Given the description of an element on the screen output the (x, y) to click on. 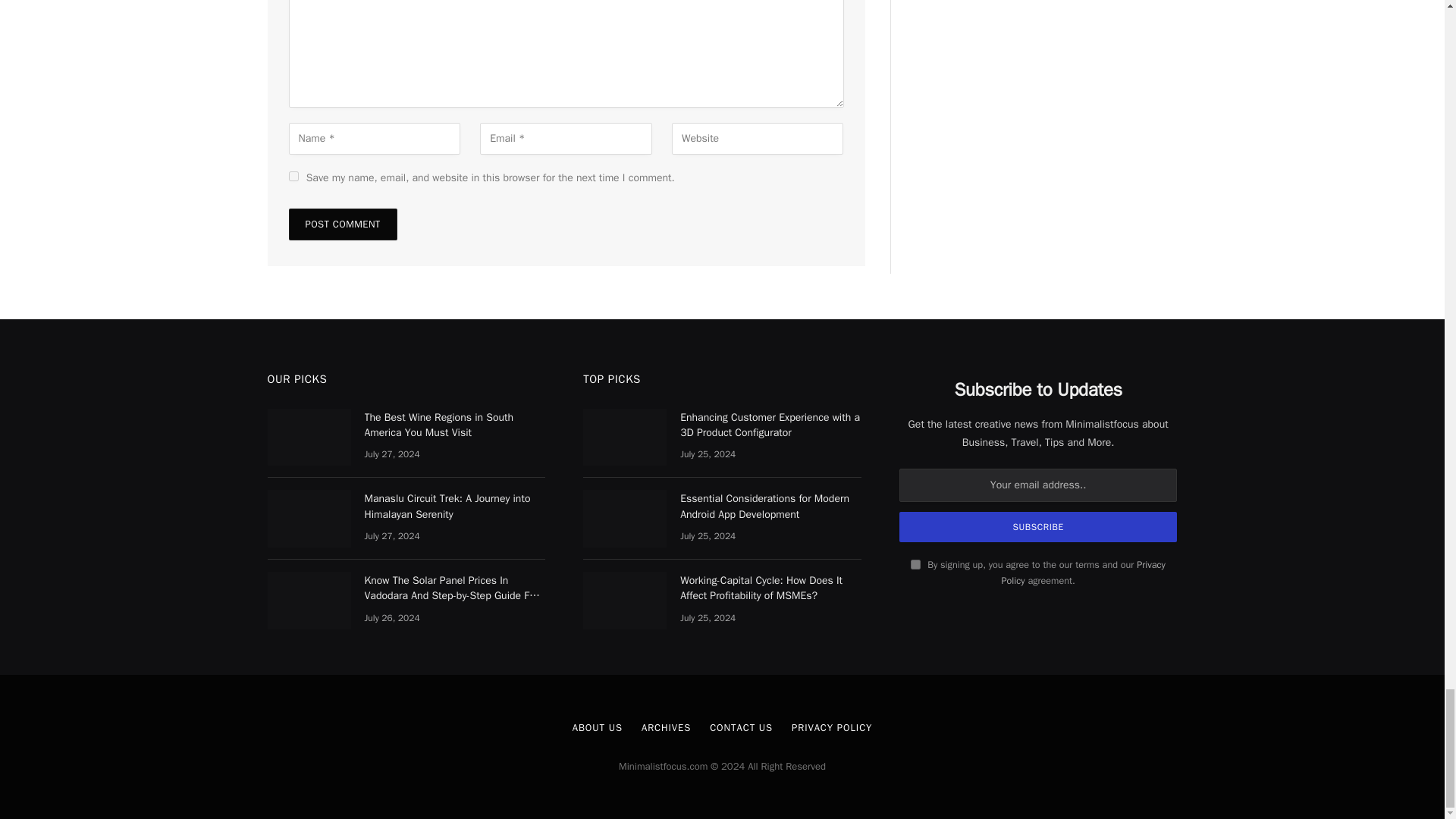
Subscribe (1038, 526)
yes (293, 175)
Post Comment (342, 223)
on (915, 564)
